Given the description of an element on the screen output the (x, y) to click on. 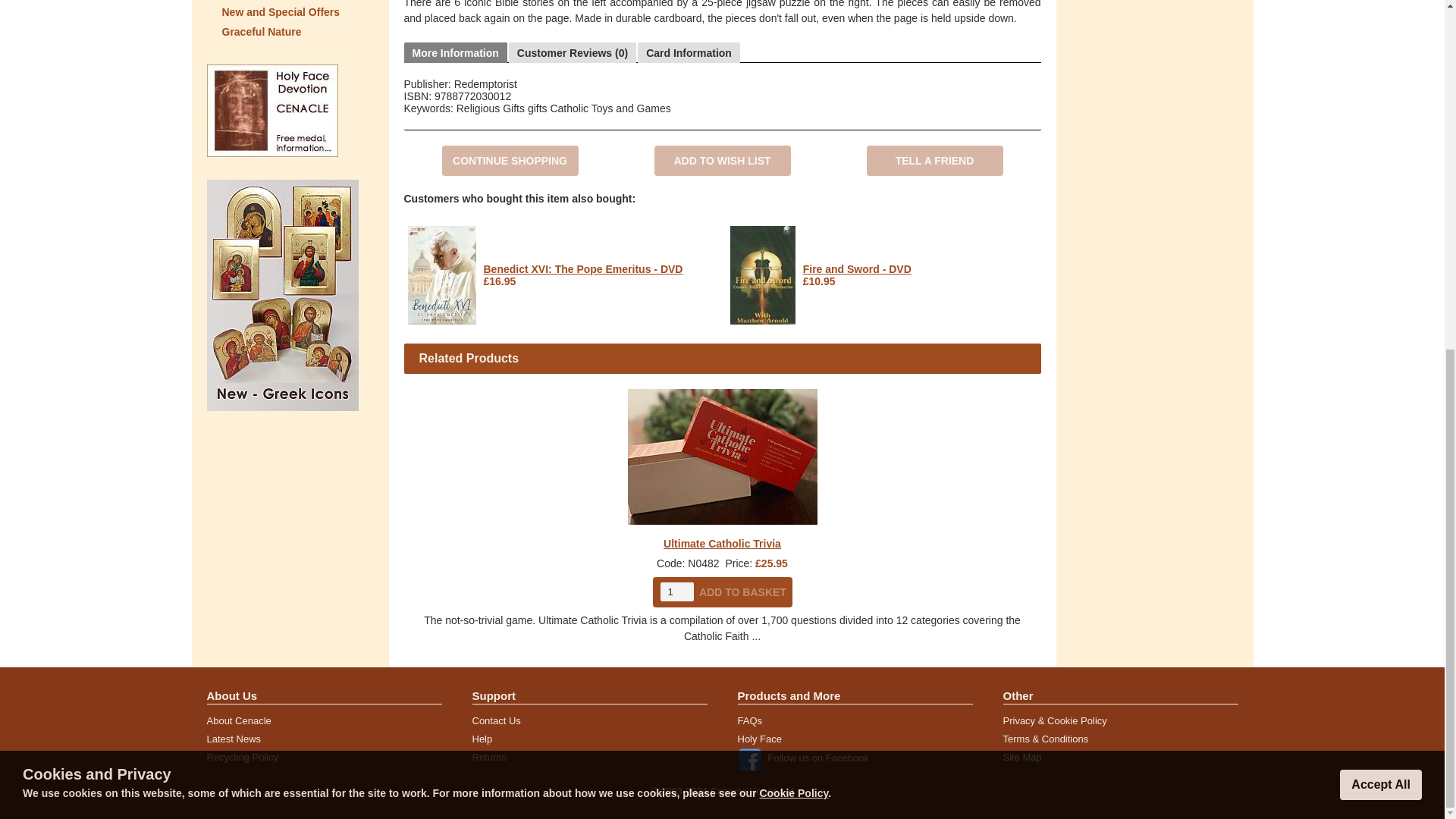
Graceful Nature (289, 31)
Card Information (689, 53)
1 (676, 591)
New and Special Offers (289, 12)
CONTINUE SHOPPING (509, 160)
Second Hand Books (289, 1)
More Information (455, 53)
